Given the description of an element on the screen output the (x, y) to click on. 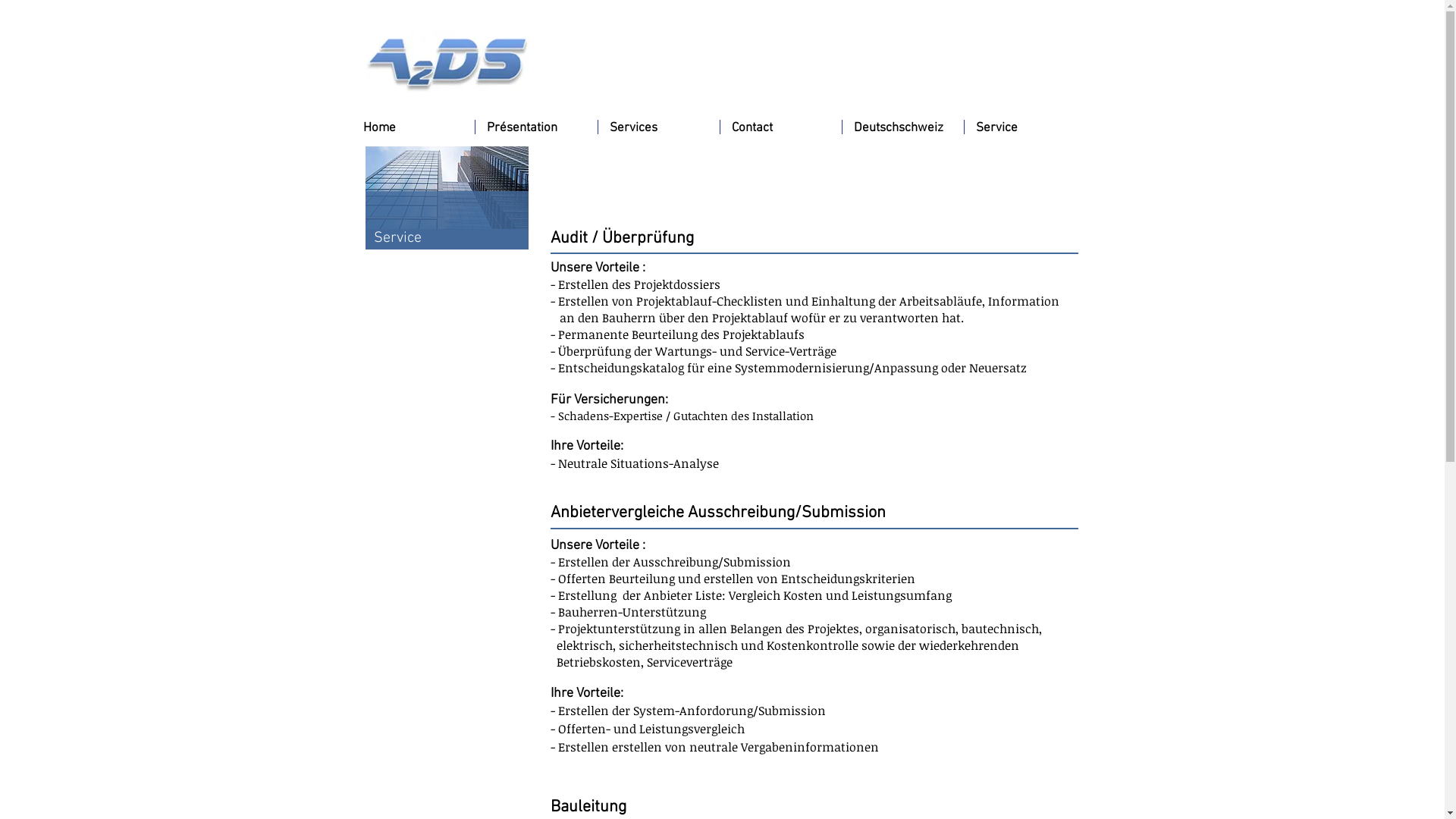
Deutschschweiz Element type: text (902, 126)
Service Element type: text (1024, 126)
Services Element type: text (657, 126)
Home Element type: text (412, 126)
Contact Element type: text (780, 126)
Immeuble de bureaux Element type: hover (446, 187)
